Given the description of an element on the screen output the (x, y) to click on. 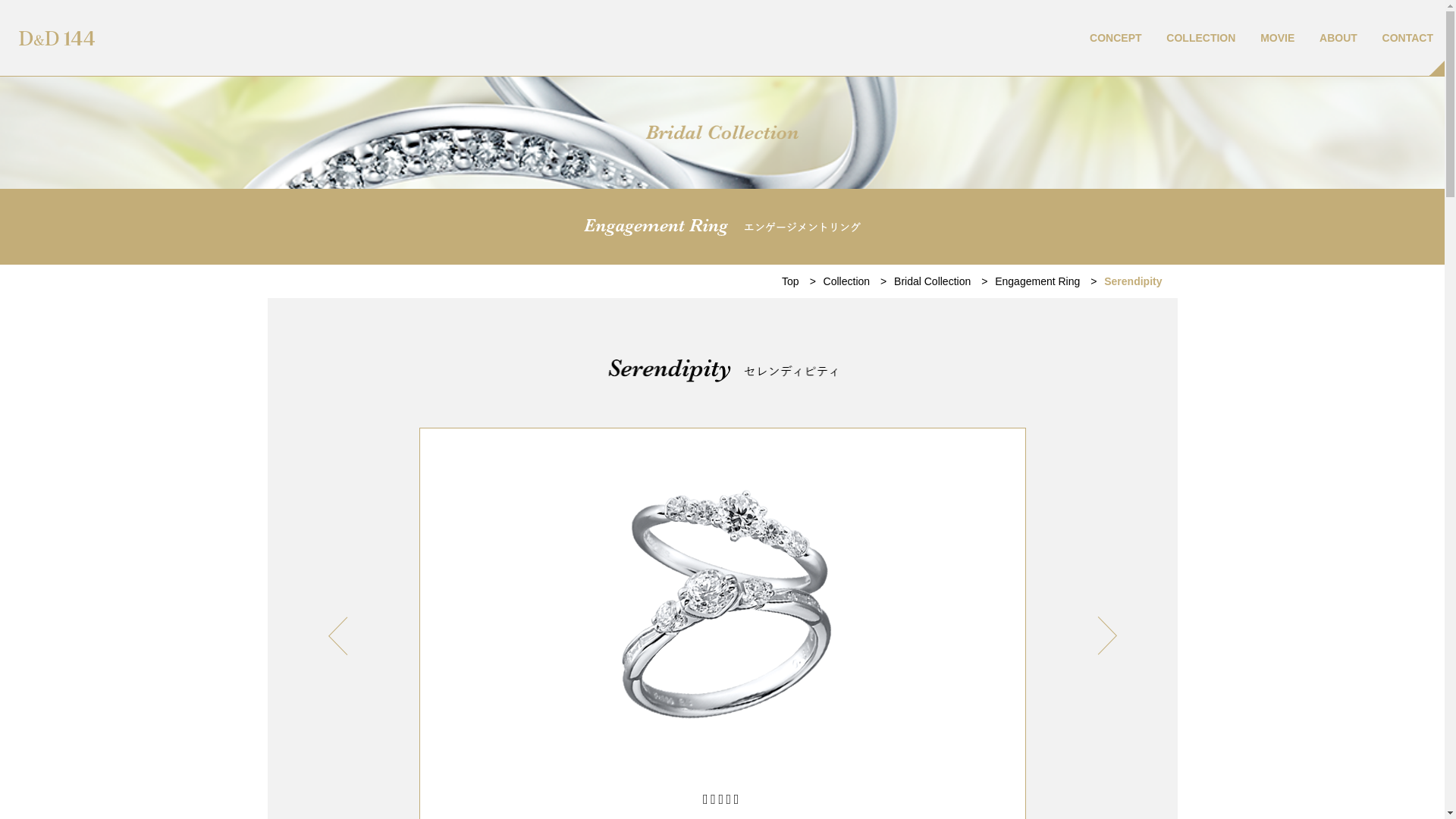
Bridal Collection Element type: text (943, 281)
Collection Element type: text (857, 281)
ABOUT Element type: text (1338, 37)
CONCEPT Element type: text (1115, 37)
Top Element type: text (801, 281)
CONTACT Element type: text (1407, 37)
Engagement Ring Element type: text (1047, 281)
MOVIE Element type: text (1276, 37)
COLLECTION Element type: text (1200, 37)
